Given the description of an element on the screen output the (x, y) to click on. 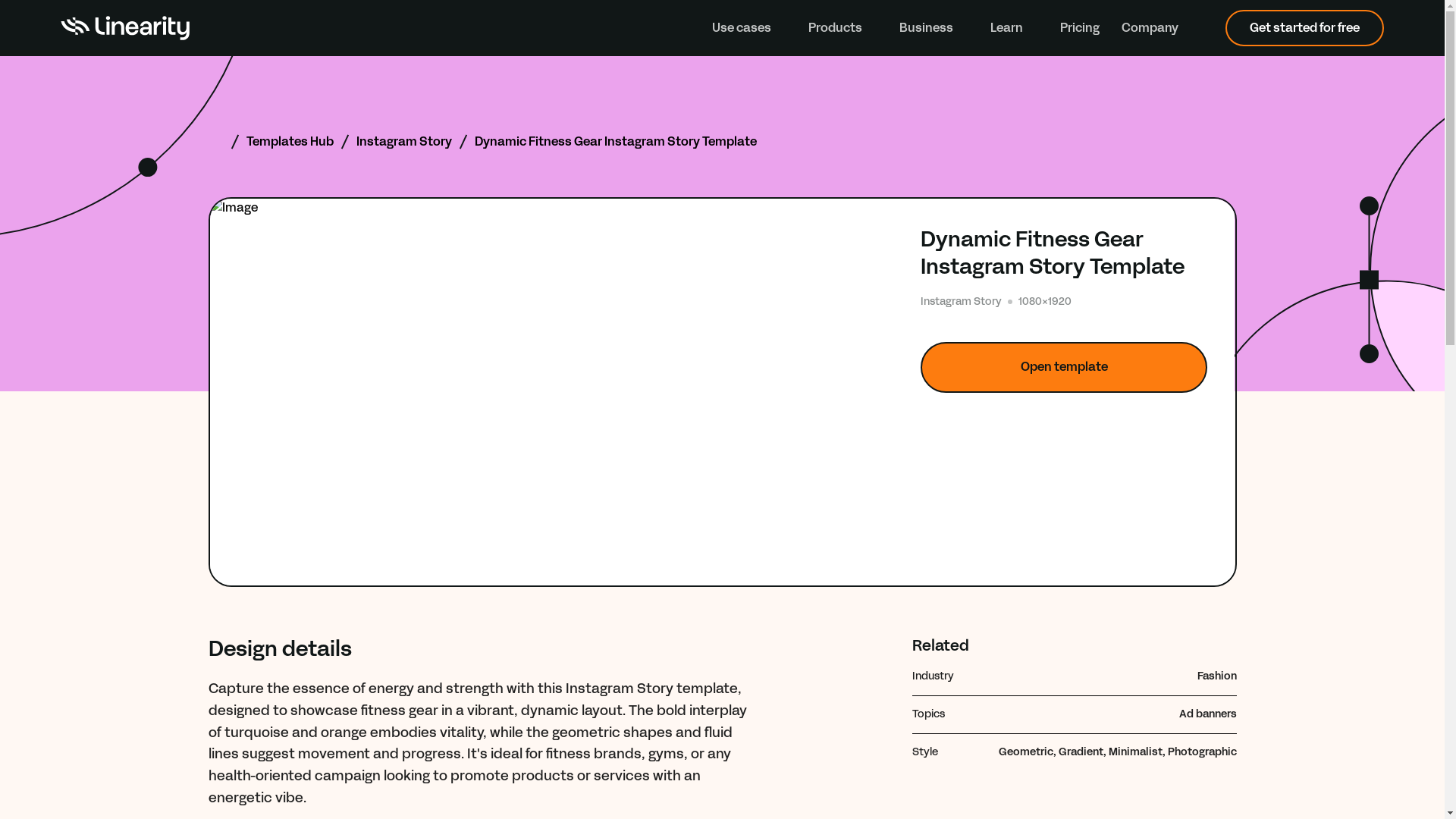
Products (842, 27)
Business (933, 27)
Company (1157, 27)
Learn (1014, 27)
Pricing (1079, 27)
Open template (1064, 367)
Get started for free (1304, 27)
Instagram Story (403, 141)
Templates Hub (289, 141)
Use cases (748, 27)
